Given the description of an element on the screen output the (x, y) to click on. 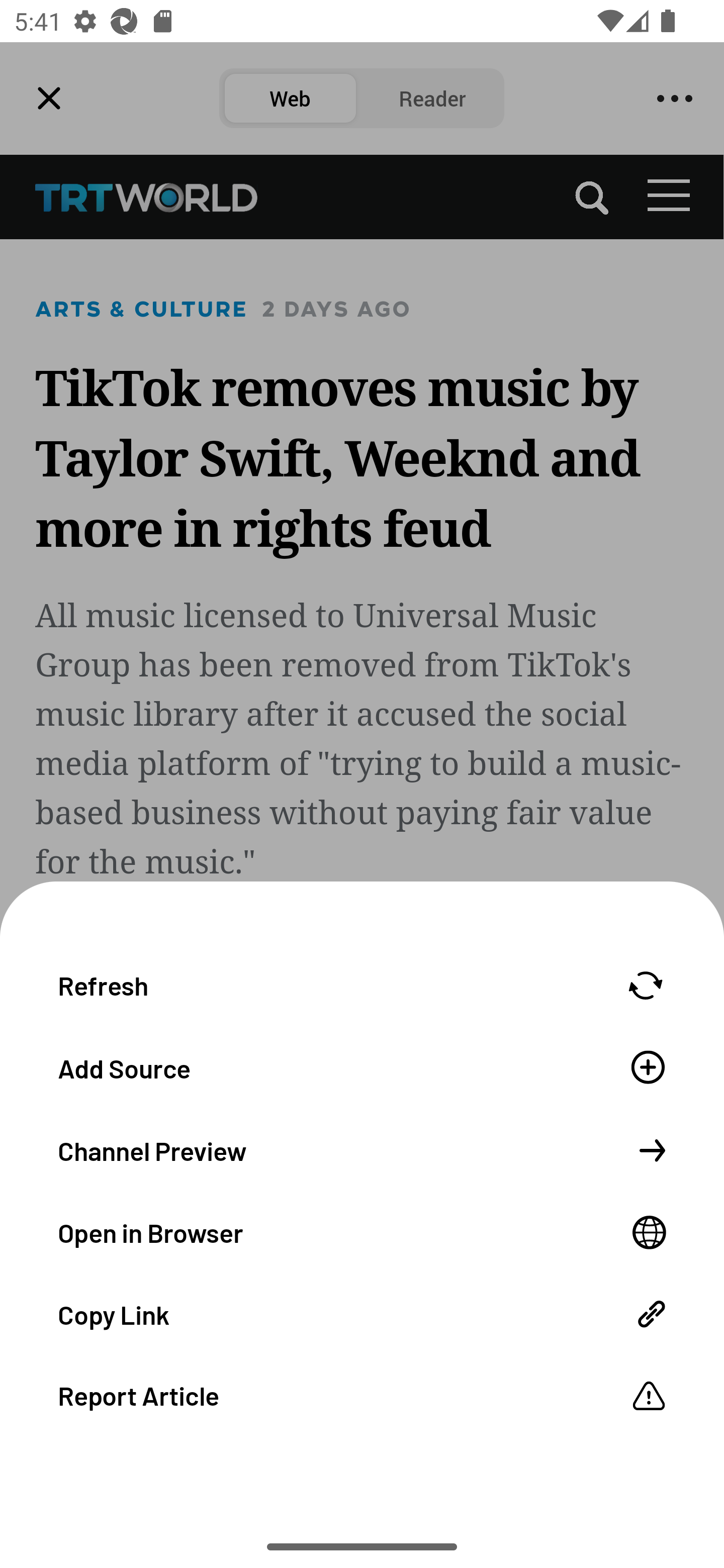
Refresh Menu Option (361, 984)
Add Source Menu Option (361, 1066)
Channel Preview Menu Option (361, 1149)
Open in Browser Menu Option (361, 1231)
Copy Link Menu Option (361, 1313)
Report Article Menu Option (361, 1395)
